Given the description of an element on the screen output the (x, y) to click on. 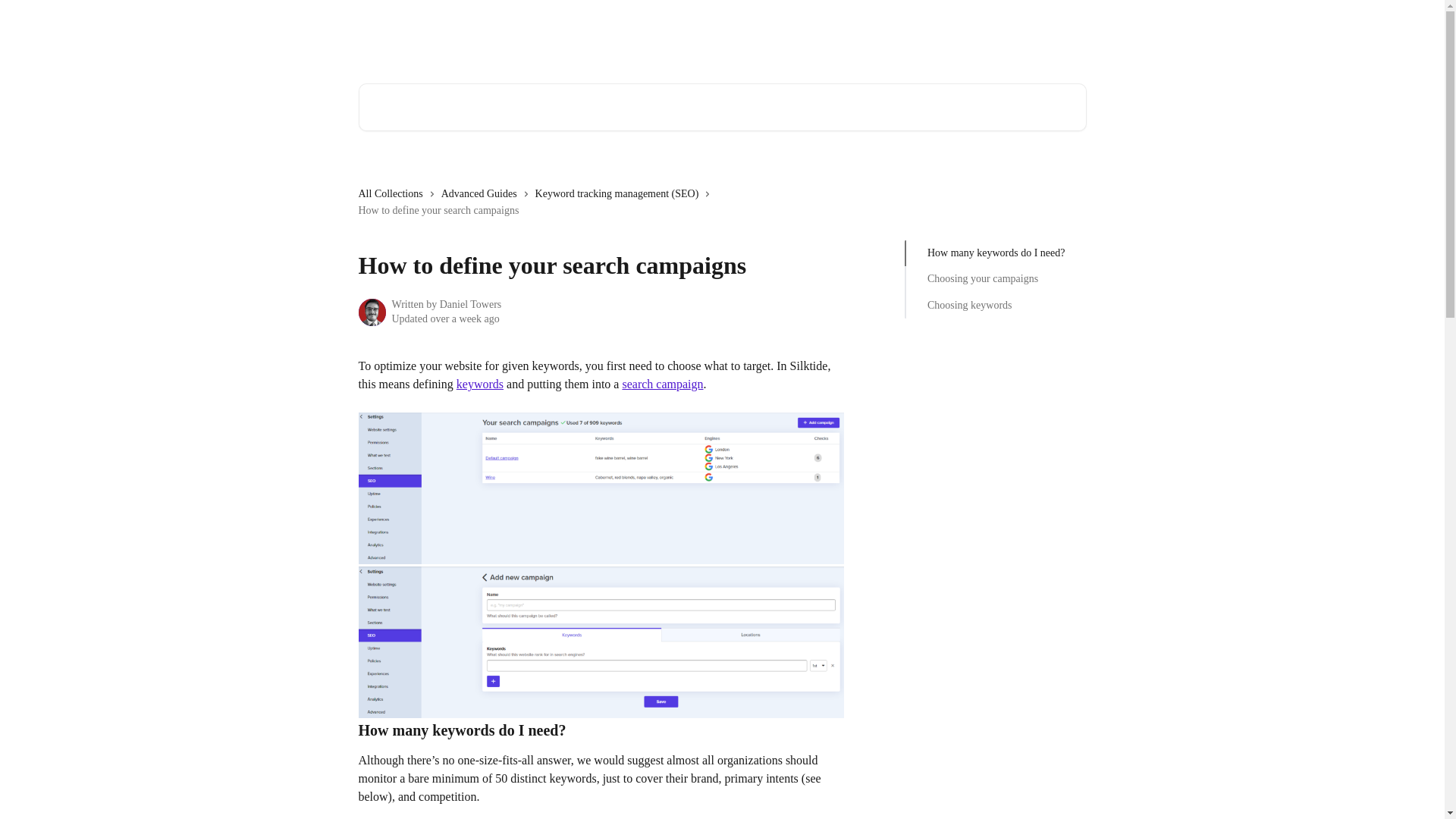
API documentation (958, 32)
search campaign (662, 383)
Choosing keywords (996, 305)
Blog (886, 32)
All Collections (393, 193)
keywords (480, 383)
Choosing your campaigns (996, 279)
How many keywords do I need? (996, 252)
Webinars (835, 32)
Advanced Guides (481, 193)
